Given the description of an element on the screen output the (x, y) to click on. 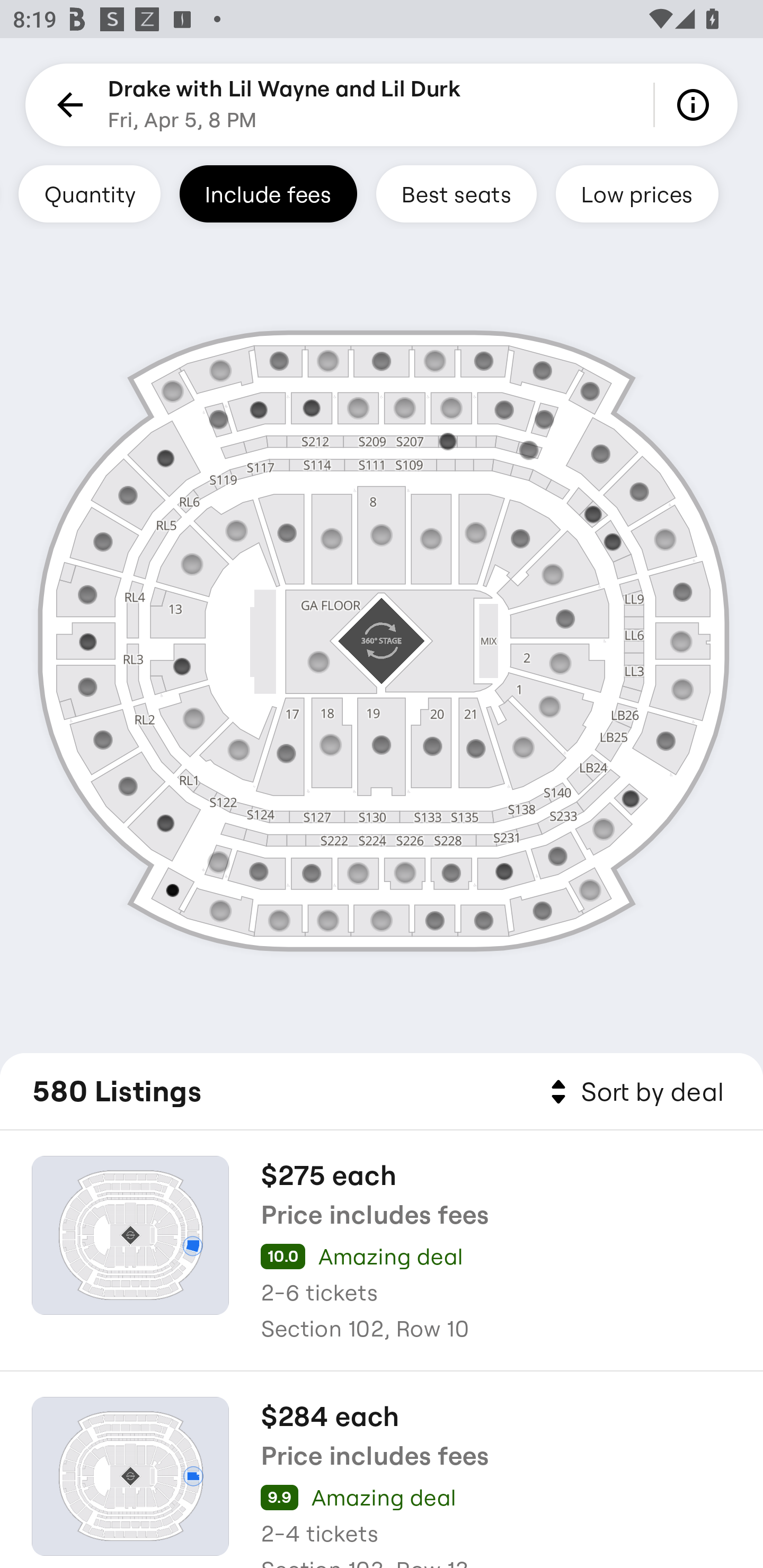
Back (66, 104)
Drake with Lil Wayne and Lil Durk Fri, Apr 5, 8 PM (284, 104)
Info (695, 104)
Quantity (89, 193)
Include fees (268, 193)
Best seats (456, 193)
Low prices (636, 193)
Sort by deal (633, 1091)
